Given the description of an element on the screen output the (x, y) to click on. 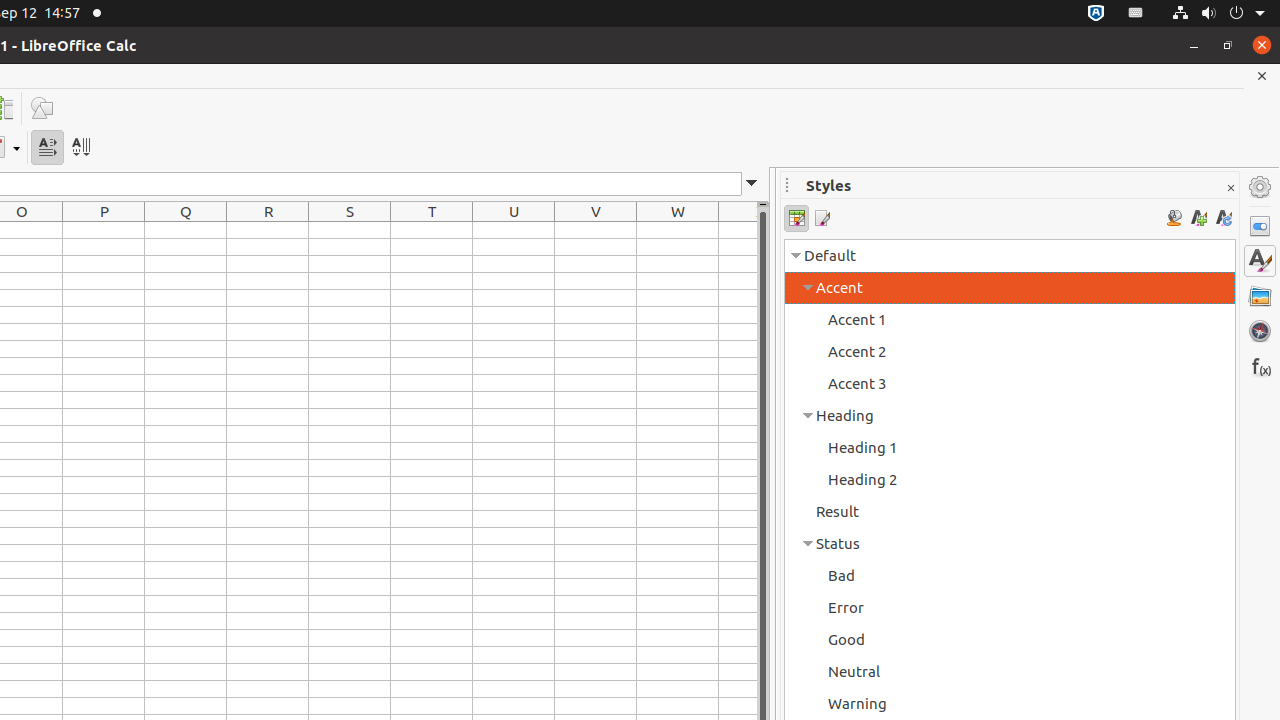
S1 Element type: table-cell (350, 230)
Properties Element type: radio-button (1260, 226)
U1 Element type: table-cell (514, 230)
New Style from Selection Element type: push-button (1198, 218)
:1.21/StatusNotifierItem Element type: menu (1136, 13)
